Given the description of an element on the screen output the (x, y) to click on. 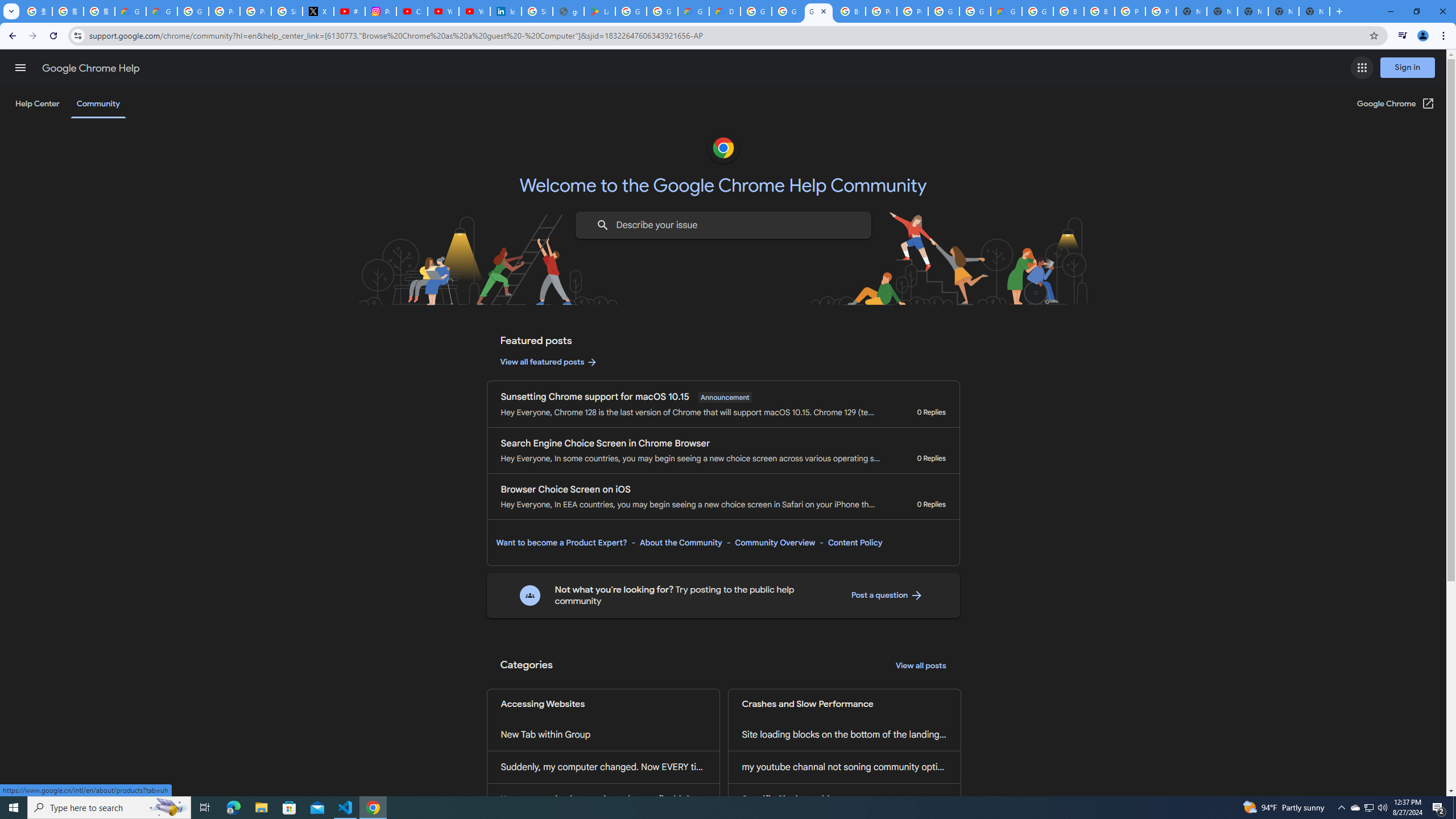
Privacy Help Center - Policies Help (255, 11)
Google Cloud Privacy Notice (161, 11)
Google Chrome Community (818, 11)
#nbabasketballhighlights - YouTube (349, 11)
Browse Chrome as a guest - Computer - Google Chrome Help (1098, 11)
View all featured posts (548, 361)
Google Cloud Platform (1037, 11)
